Given the description of an element on the screen output the (x, y) to click on. 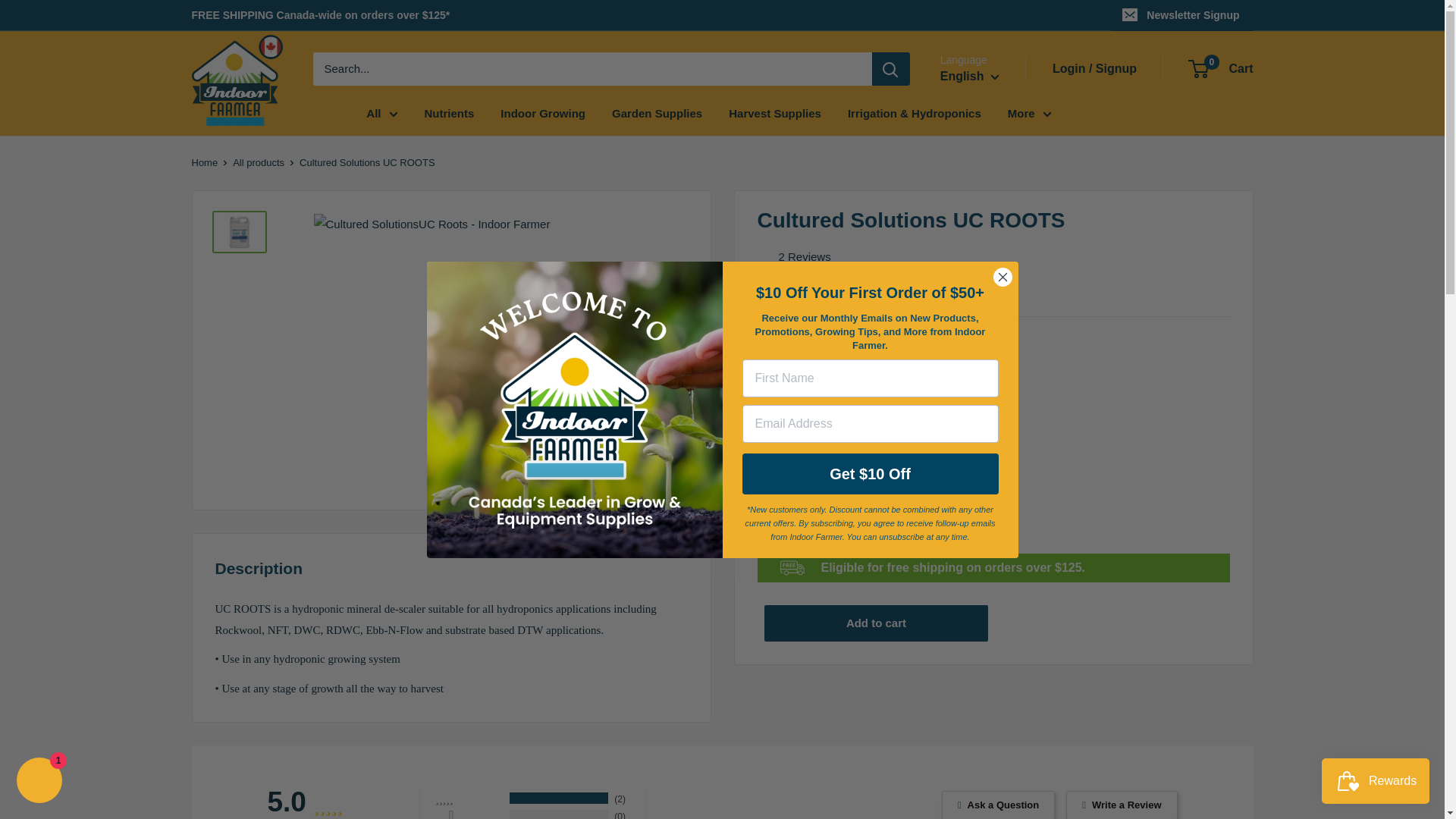
1 GAL (869, 378)
1 QUART (795, 378)
1 (872, 515)
2.5 GAL (937, 378)
Shopify online store chat (38, 781)
Welcome to Indoor Farmer (574, 409)
Smile.io Rewards Program Launcher (1375, 780)
Newsletter Signup (1181, 15)
Decrease quantity by 1 (832, 515)
Increase quantity by 1 (912, 515)
